Given the description of an element on the screen output the (x, y) to click on. 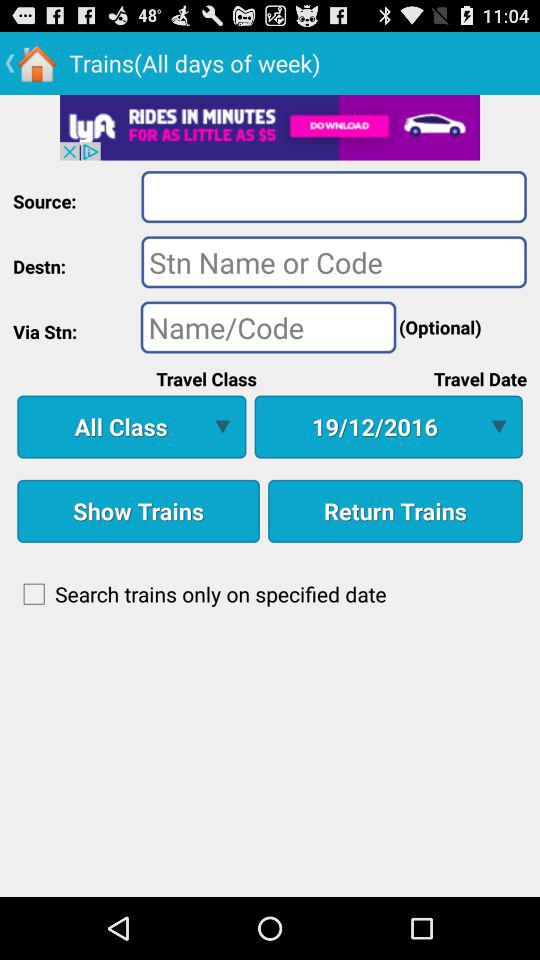
enter station code (268, 327)
